Given the description of an element on the screen output the (x, y) to click on. 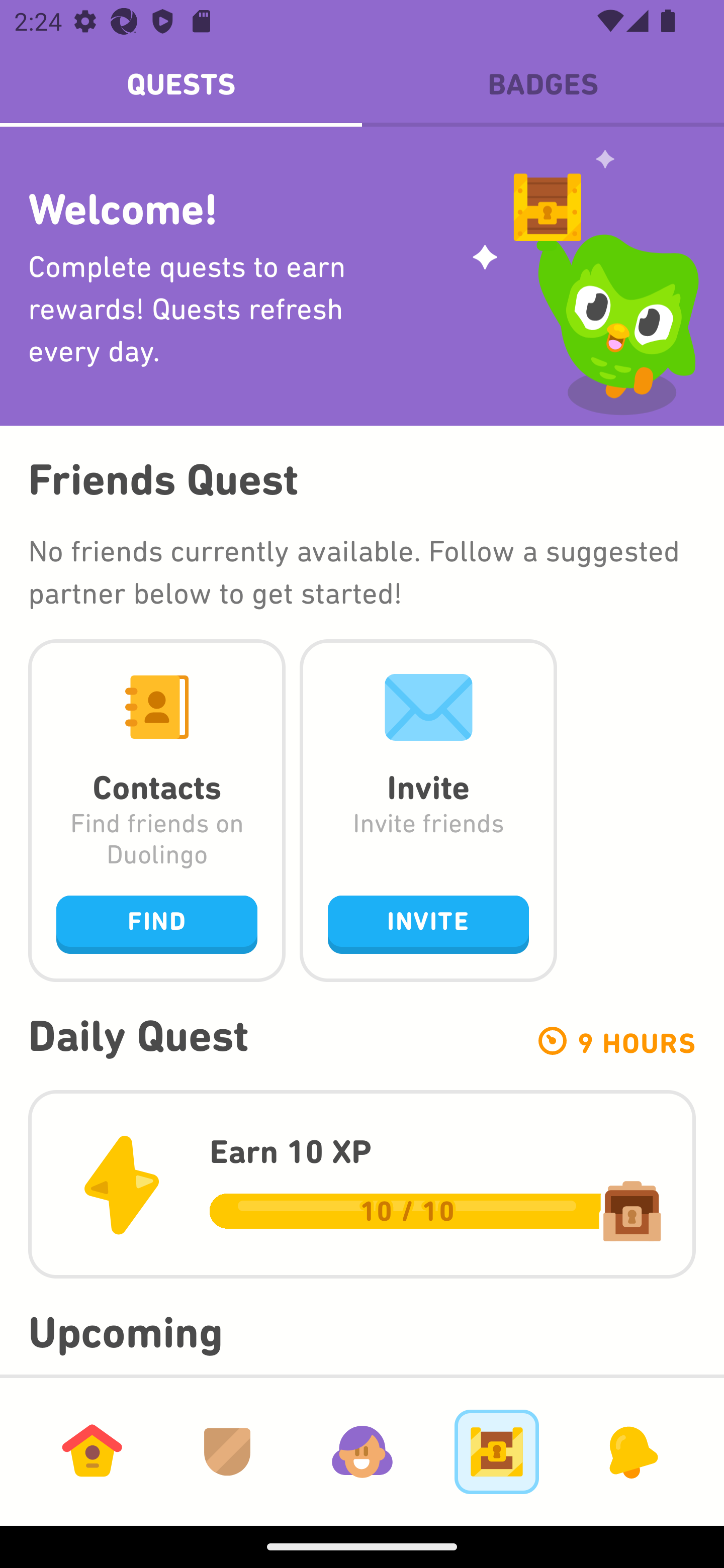
BADGES (543, 84)
FIND (156, 924)
INVITE (428, 924)
Learn Tab (91, 1451)
Leagues Tab (227, 1451)
Profile Tab (361, 1451)
Goals Tab (496, 1451)
News Tab (631, 1451)
